Given the description of an element on the screen output the (x, y) to click on. 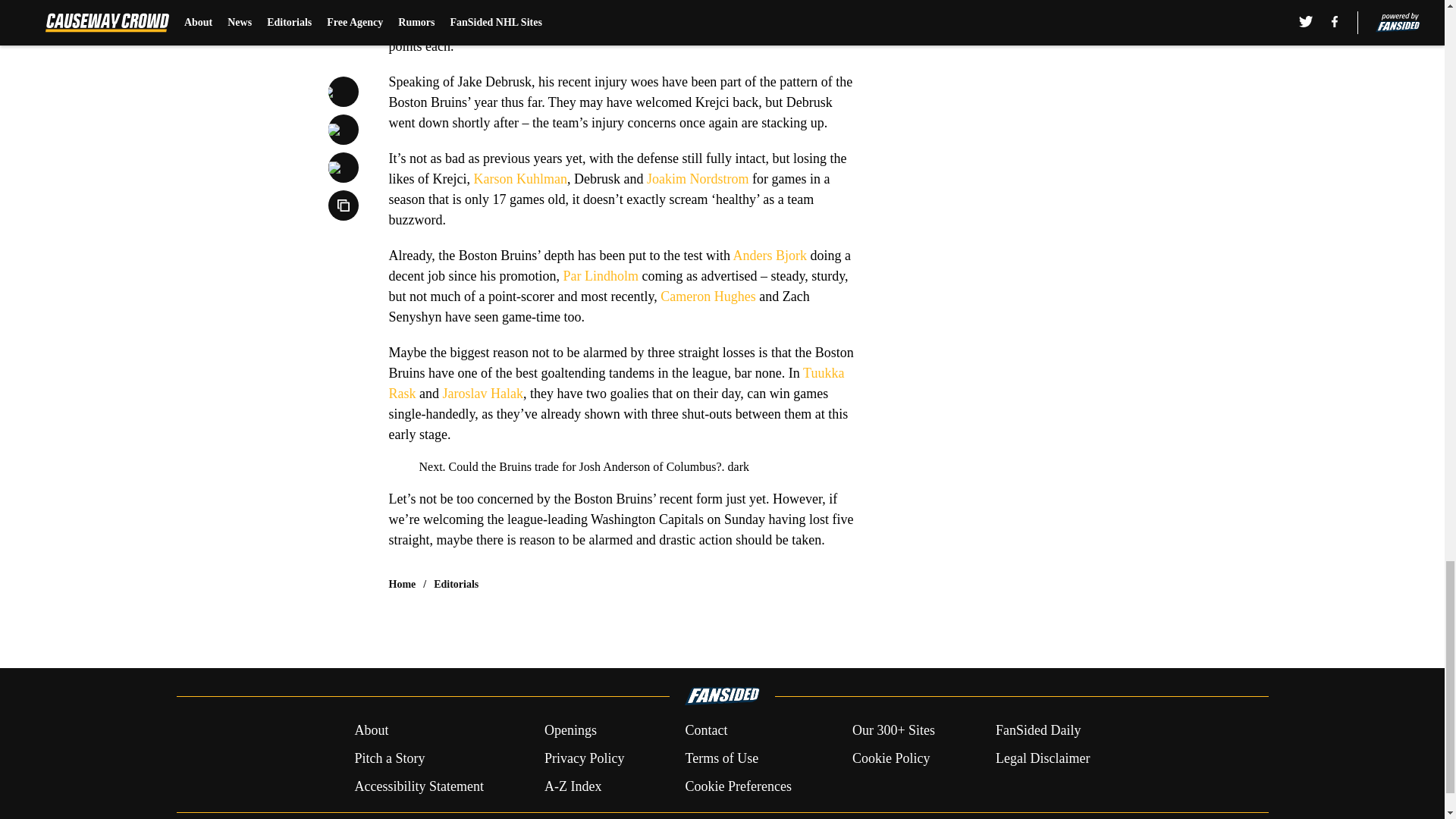
Karson Kuhlman (519, 178)
Joakim Nordstrom (697, 178)
Jaroslav Halak (482, 393)
Tuukka Rask (616, 383)
Brandon Carlo (623, 25)
Charlie Coyle (537, 25)
Par Lindholm (600, 275)
Jake Debrusk (726, 25)
Cameron Hughes (708, 296)
David Krejci (643, 6)
